Given the description of an element on the screen output the (x, y) to click on. 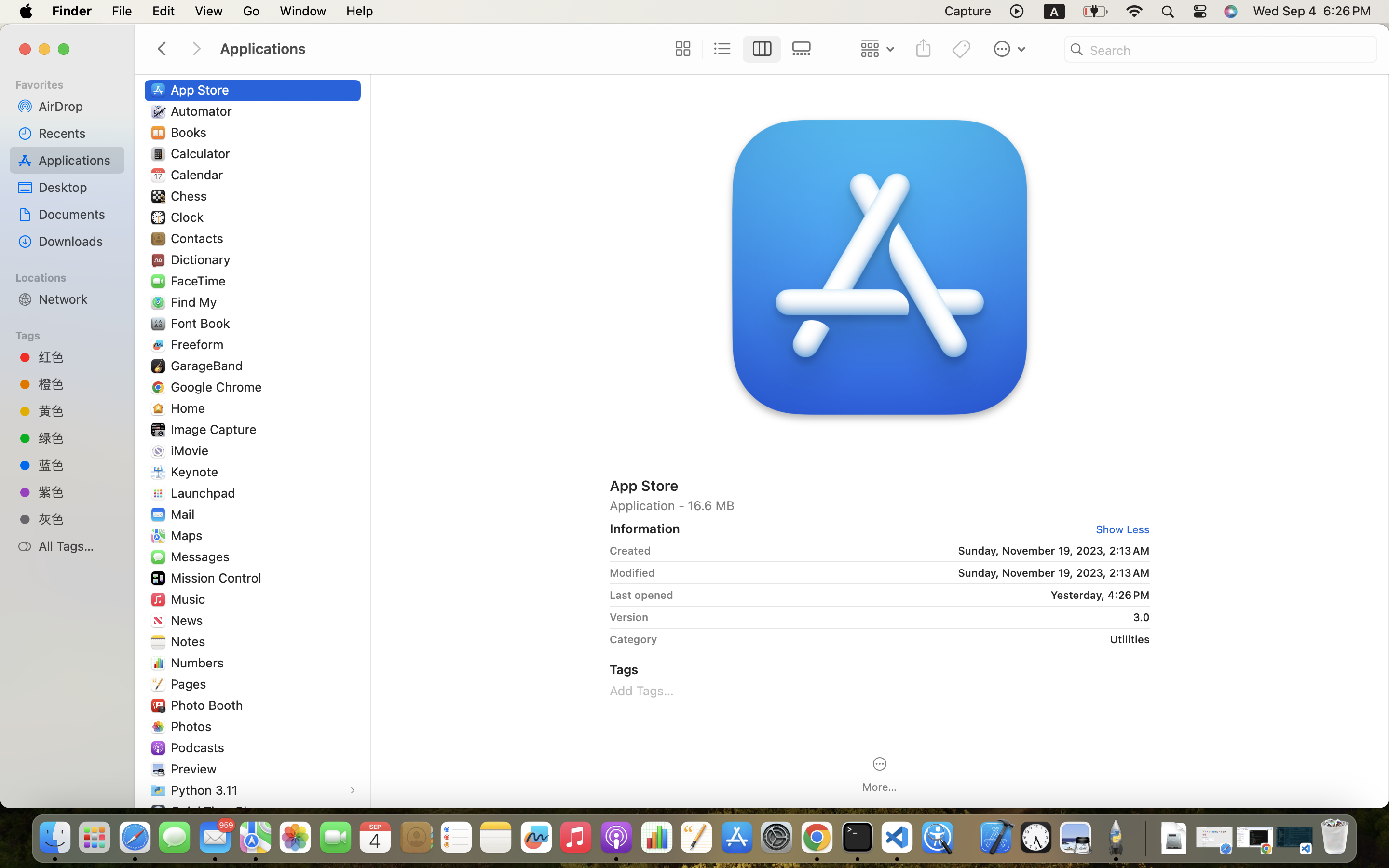
Launchpad Element type: AXTextField (205, 492)
灰色 Element type: AXStaticText (77, 518)
Keynote Element type: AXTextField (196, 471)
Pages Element type: AXTextField (190, 683)
Created Element type: AXStaticText (630, 550)
